Given the description of an element on the screen output the (x, y) to click on. 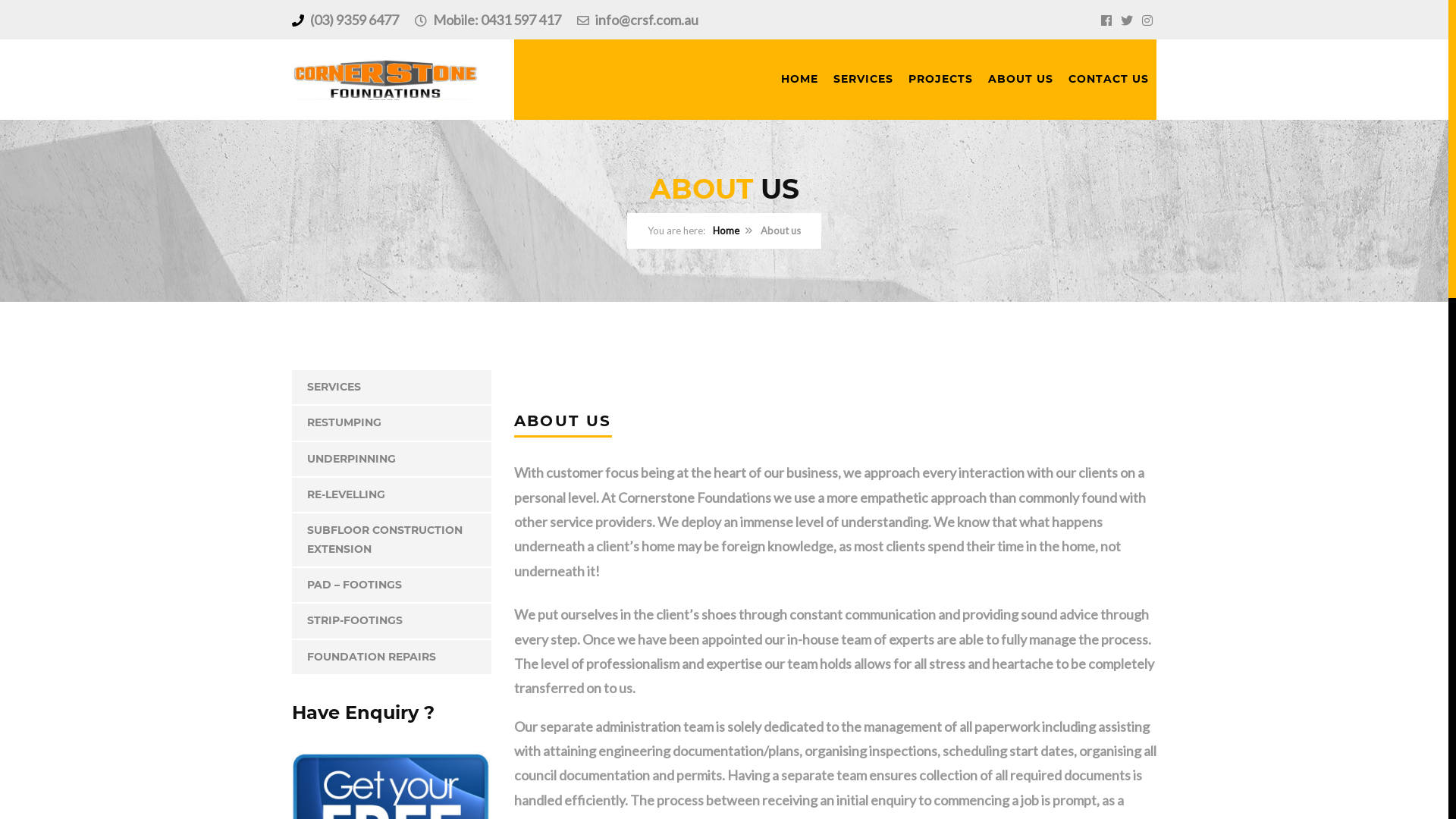
ABOUT US Element type: text (1020, 79)
RE-LEVELLING Element type: text (391, 494)
FOUNDATION REPAIRS Element type: text (391, 657)
info@crsf.com.au Element type: text (646, 19)
Home Element type: text (725, 230)
SERVICES Element type: text (391, 387)
Mobile: 0431 597 417        Element type: text (514, 19)
(03) 9359 6477        Element type: text (371, 19)
HOME Element type: text (799, 79)
SUBFLOOR CONSTRUCTION EXTENSION Element type: text (391, 539)
STRIP-FOOTINGS Element type: text (391, 620)
PROJECTS Element type: text (940, 79)
RESTUMPING Element type: text (391, 422)
UNDERPINNING Element type: text (391, 459)
CONTACT US Element type: text (1108, 79)
SERVICES Element type: text (863, 79)
